Given the description of an element on the screen output the (x, y) to click on. 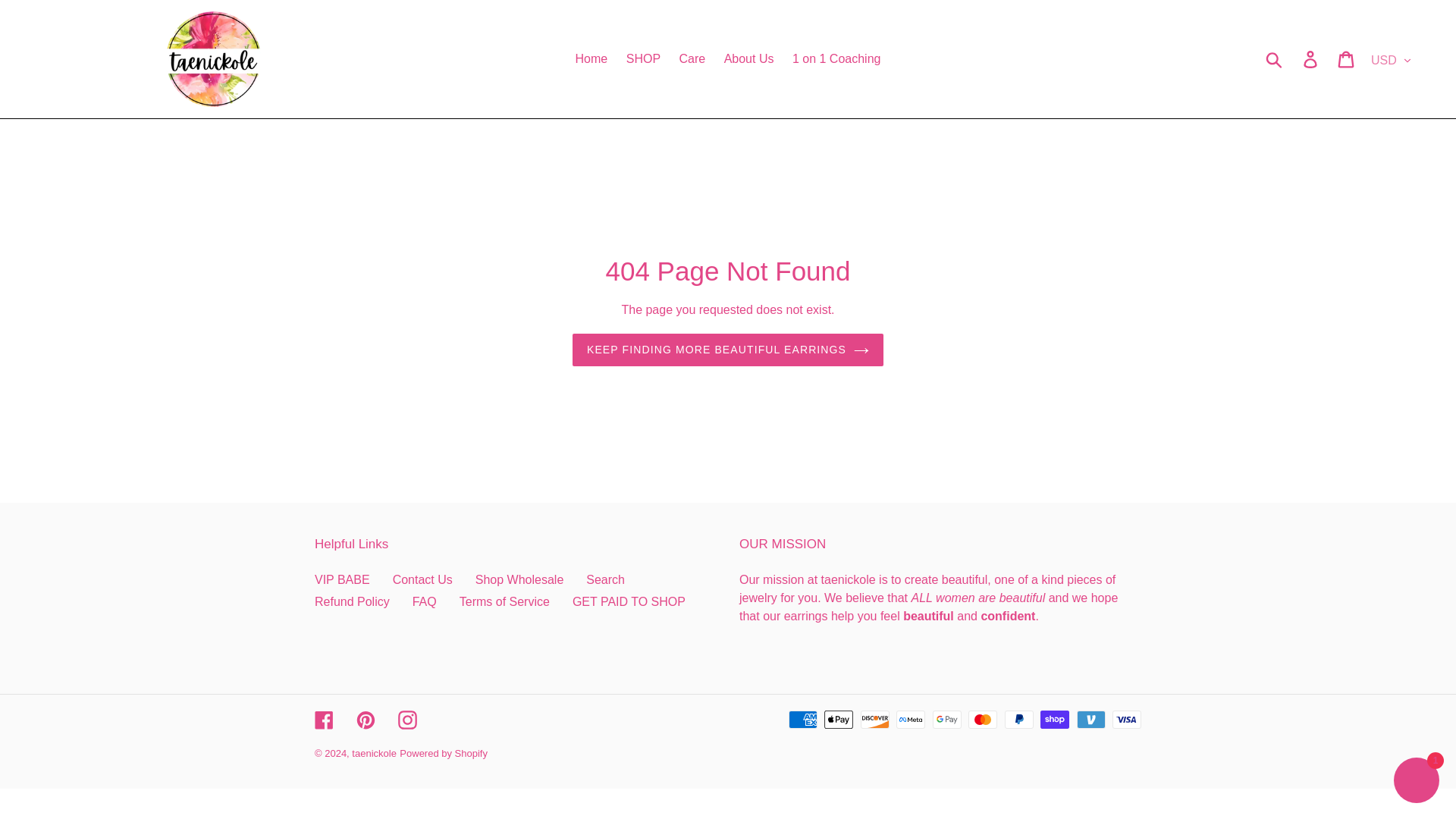
FAQ (424, 601)
Facebook (323, 719)
Shop Wholesale (520, 579)
Powered by Shopify (442, 753)
Cart (1347, 59)
About Us (748, 58)
Terms of Service (505, 601)
Refund Policy (352, 601)
SHOP (643, 58)
Care (692, 58)
Home (591, 58)
Pinterest (365, 719)
Search (605, 579)
taenickole (374, 753)
Contact Us (422, 579)
